Given the description of an element on the screen output the (x, y) to click on. 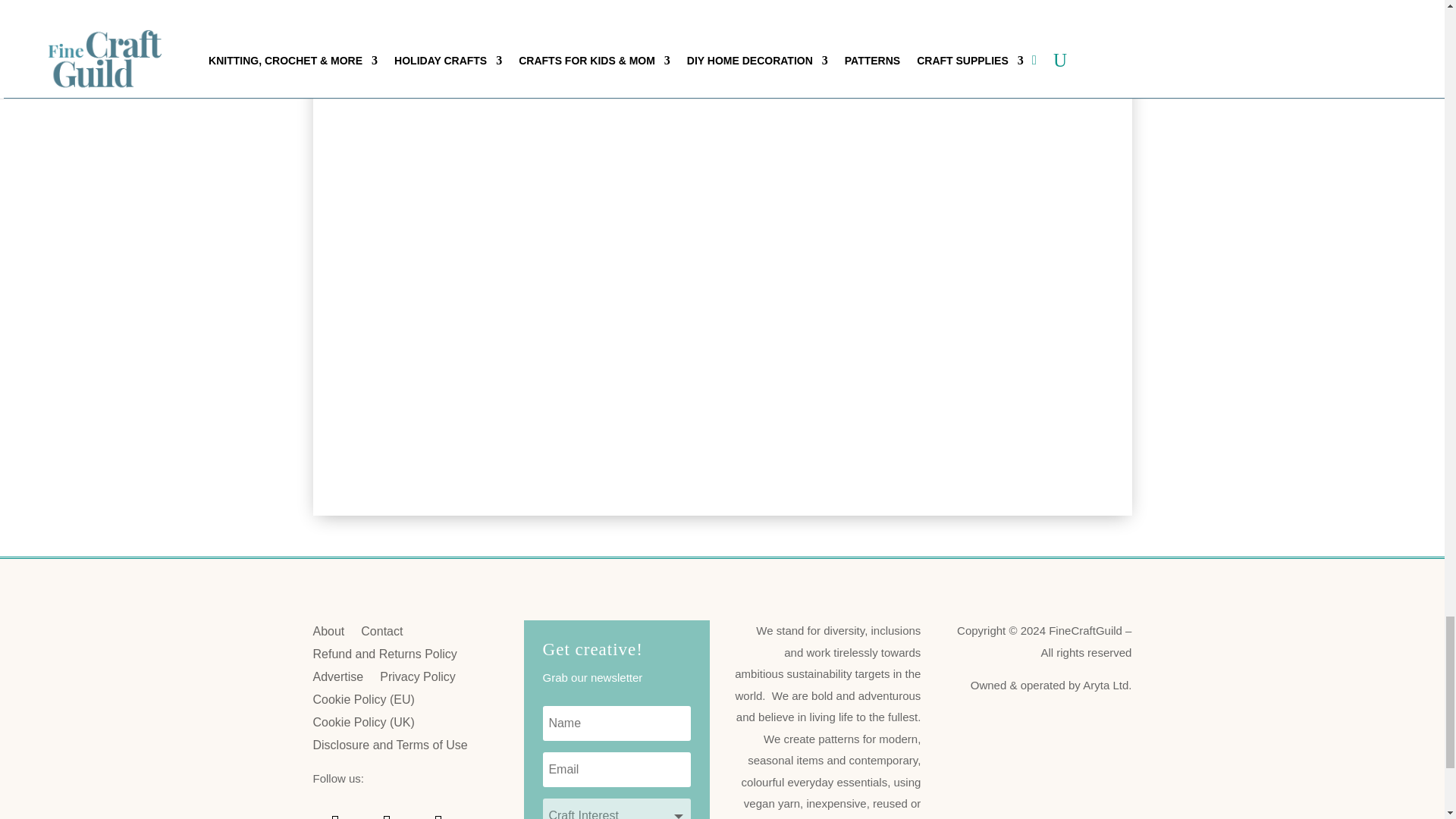
Follow on Facebook (386, 809)
Follow on X (437, 809)
Follow on Pinterest (335, 809)
